Given the description of an element on the screen output the (x, y) to click on. 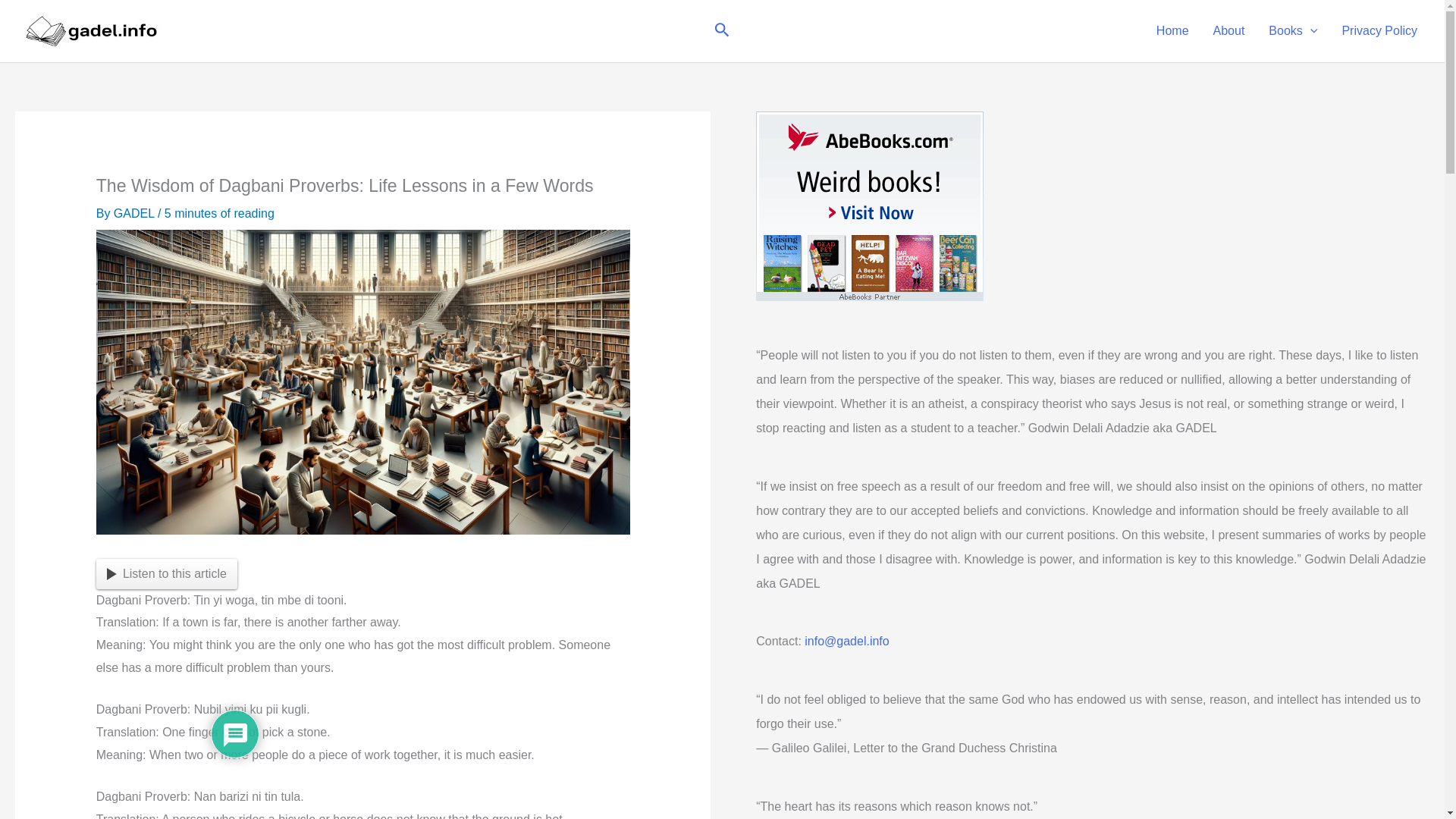
Privacy Policy (1379, 30)
About (1229, 30)
View all posts by GADEL (135, 213)
GADEL (135, 213)
Books (1292, 30)
Home (1172, 30)
